Given the description of an element on the screen output the (x, y) to click on. 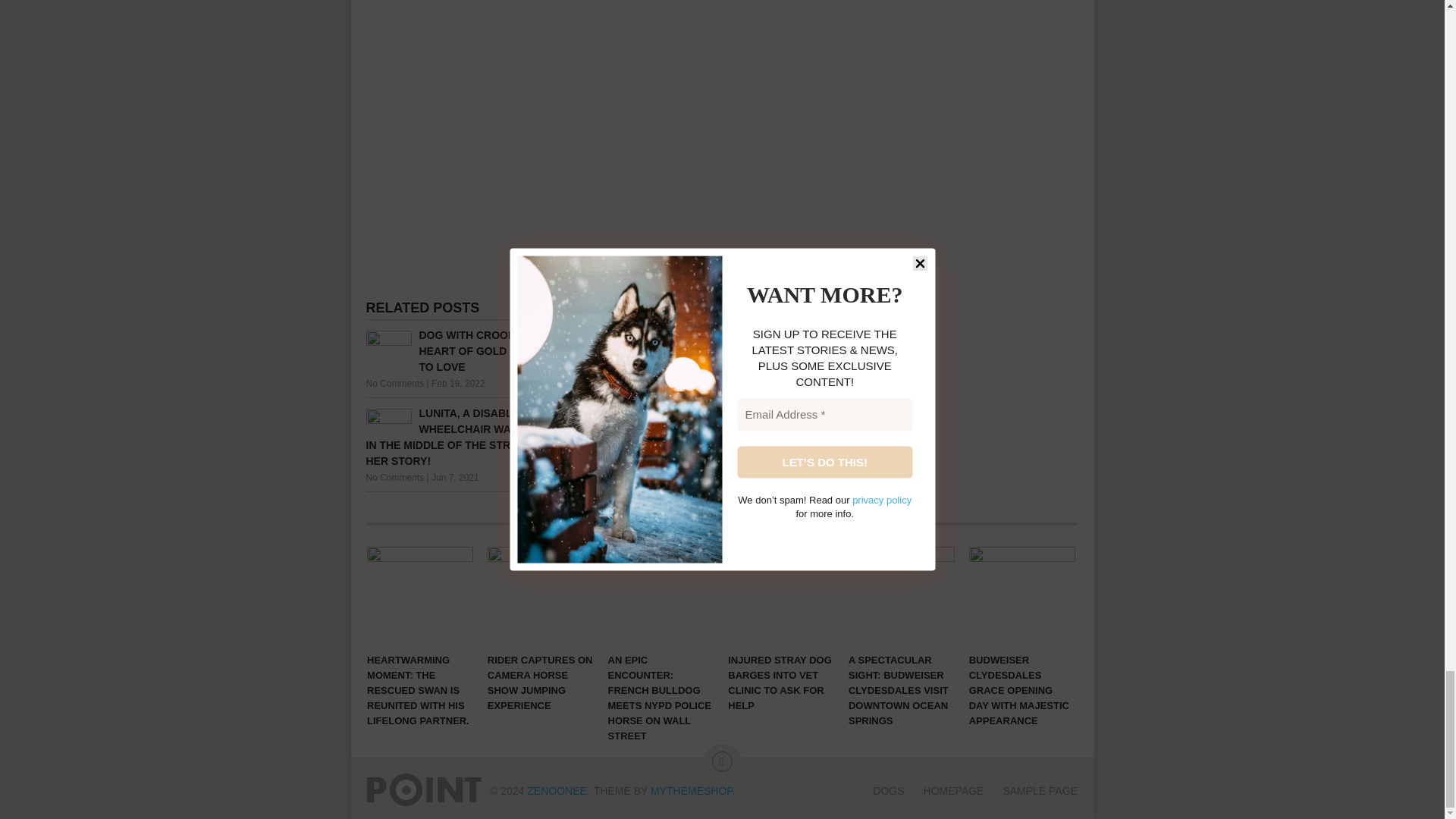
No Comments (394, 383)
RIDER CAPTURES ON CAMERA HORSE SHOW JUMPING EXPERIENCE (540, 596)
No Comments (637, 383)
No Comments (394, 477)
INJURED STRAY DOG BARGES INTO VET CLINIC TO ASK FOR HELP (781, 596)
No Comments (637, 461)
